Given the description of an element on the screen output the (x, y) to click on. 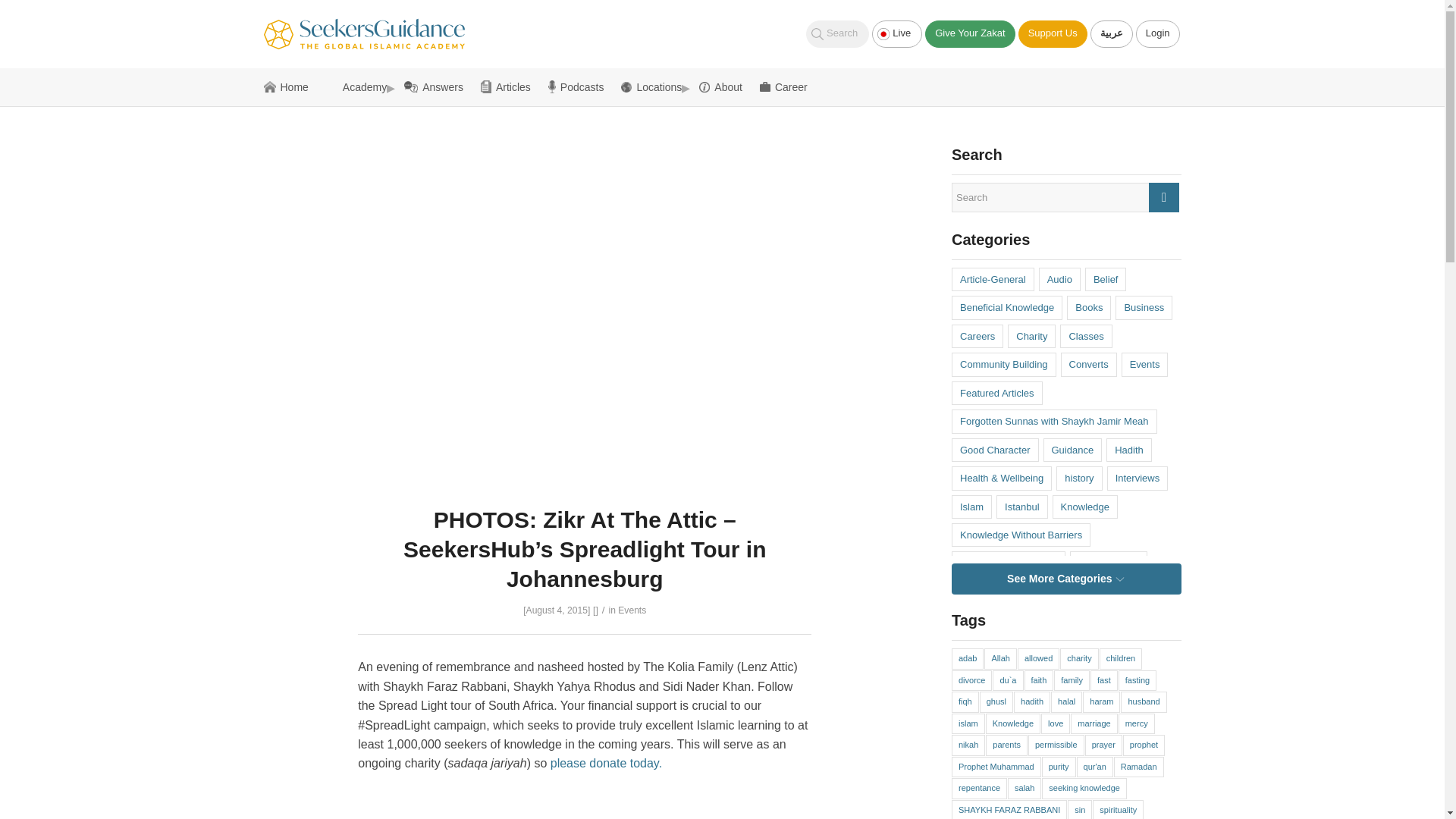
Locations (656, 86)
Login (1157, 33)
Podcasts (581, 86)
Events (631, 610)
Academy (361, 86)
Search (837, 33)
please donate today. (606, 762)
Career (784, 86)
About (725, 86)
Give Your Zakat (969, 33)
Articles (510, 86)
Live (896, 33)
Answers (438, 86)
Support Us (1052, 33)
